Given the description of an element on the screen output the (x, y) to click on. 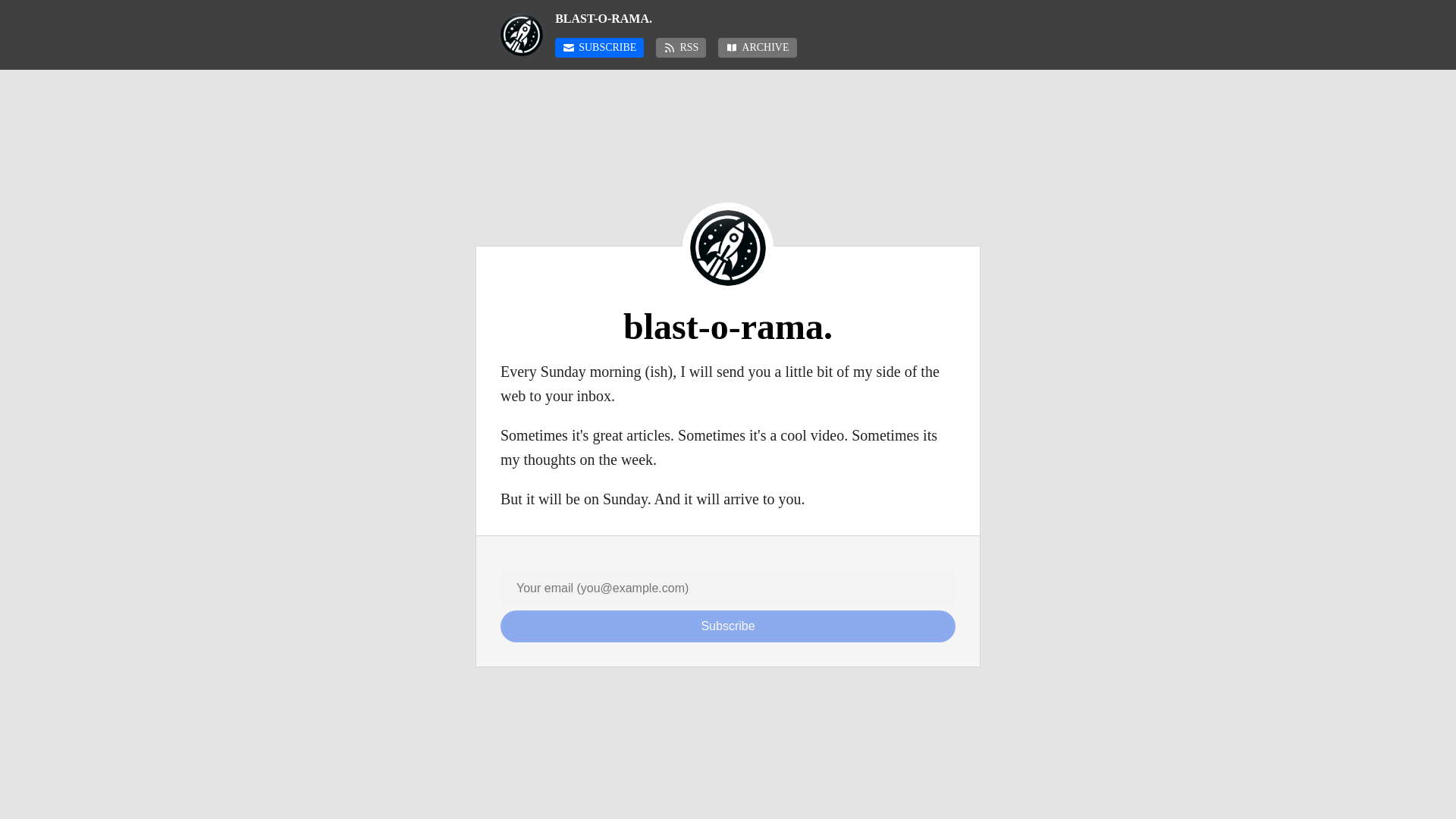
ARCHIVE (756, 47)
RSS (681, 47)
BLAST-O-RAMA. (754, 18)
SUBSCRIBE (598, 47)
Subscribe (727, 626)
